Given the description of an element on the screen output the (x, y) to click on. 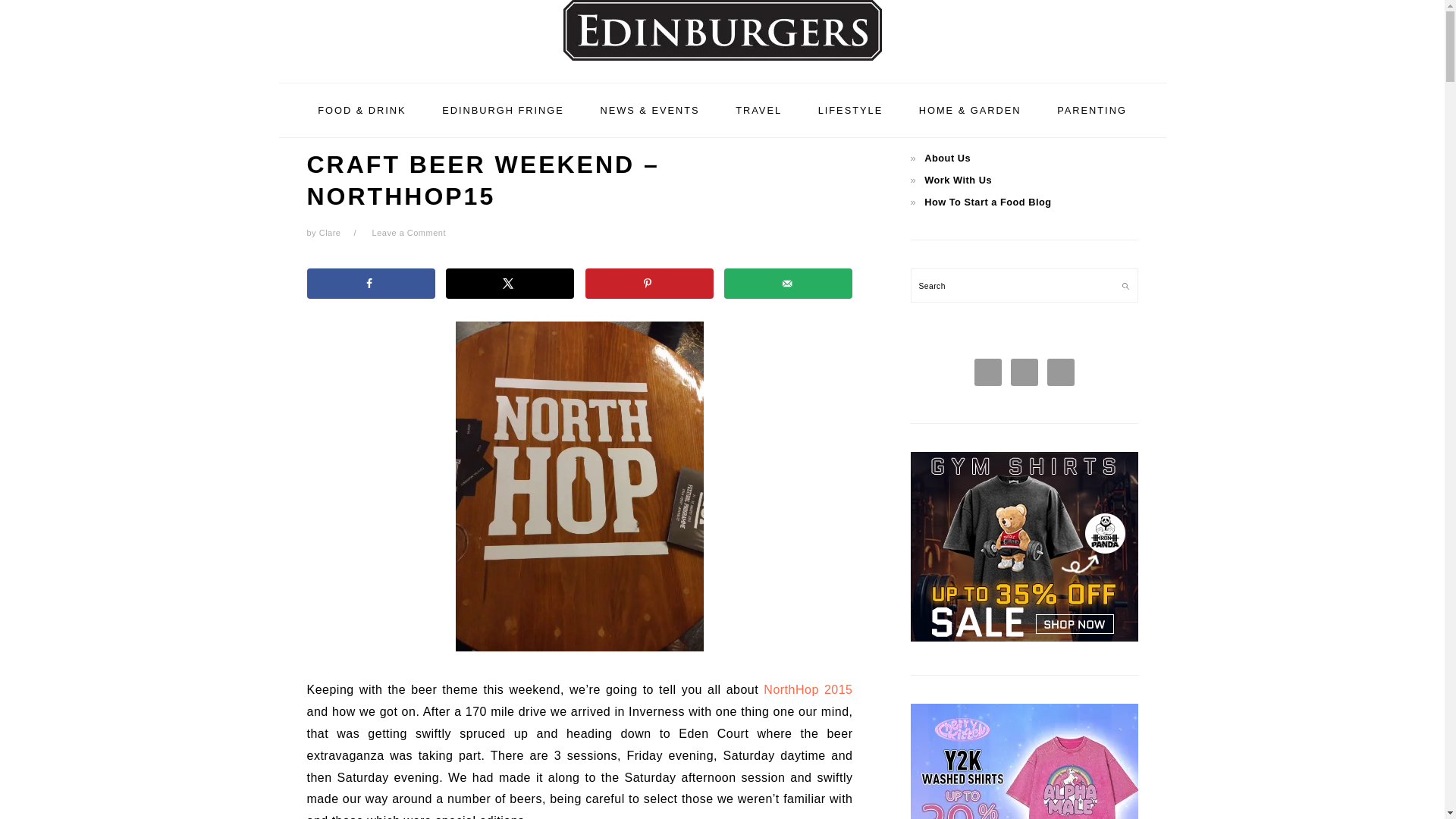
gym shirts (1023, 637)
EDINBURGH FRINGE (502, 109)
Save to Pinterest (649, 283)
LIFESTYLE (850, 109)
Share on Facebook (369, 283)
Share on X (509, 283)
Leave a Comment (408, 232)
